Given the description of an element on the screen output the (x, y) to click on. 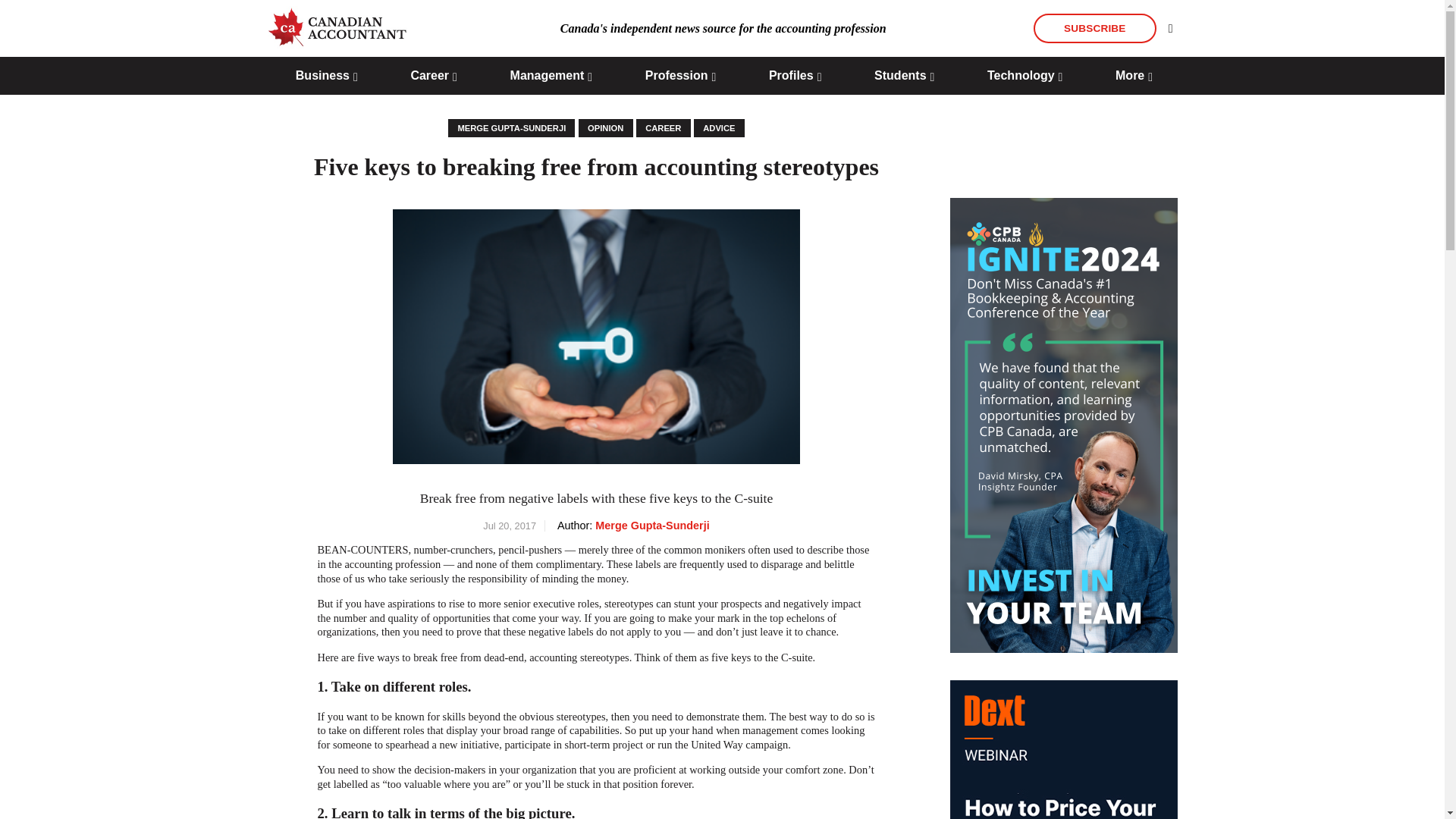
Business (326, 75)
Career (433, 75)
Dext Pricing 2024 On Demand Webinar (1062, 749)
Merge Gupta-Sunderji (652, 525)
Profession (680, 75)
Opinion (605, 127)
Merge Gupta-Sunderji (511, 127)
Profiles (795, 75)
Management (551, 75)
Subscribe (1094, 28)
